Given the description of an element on the screen output the (x, y) to click on. 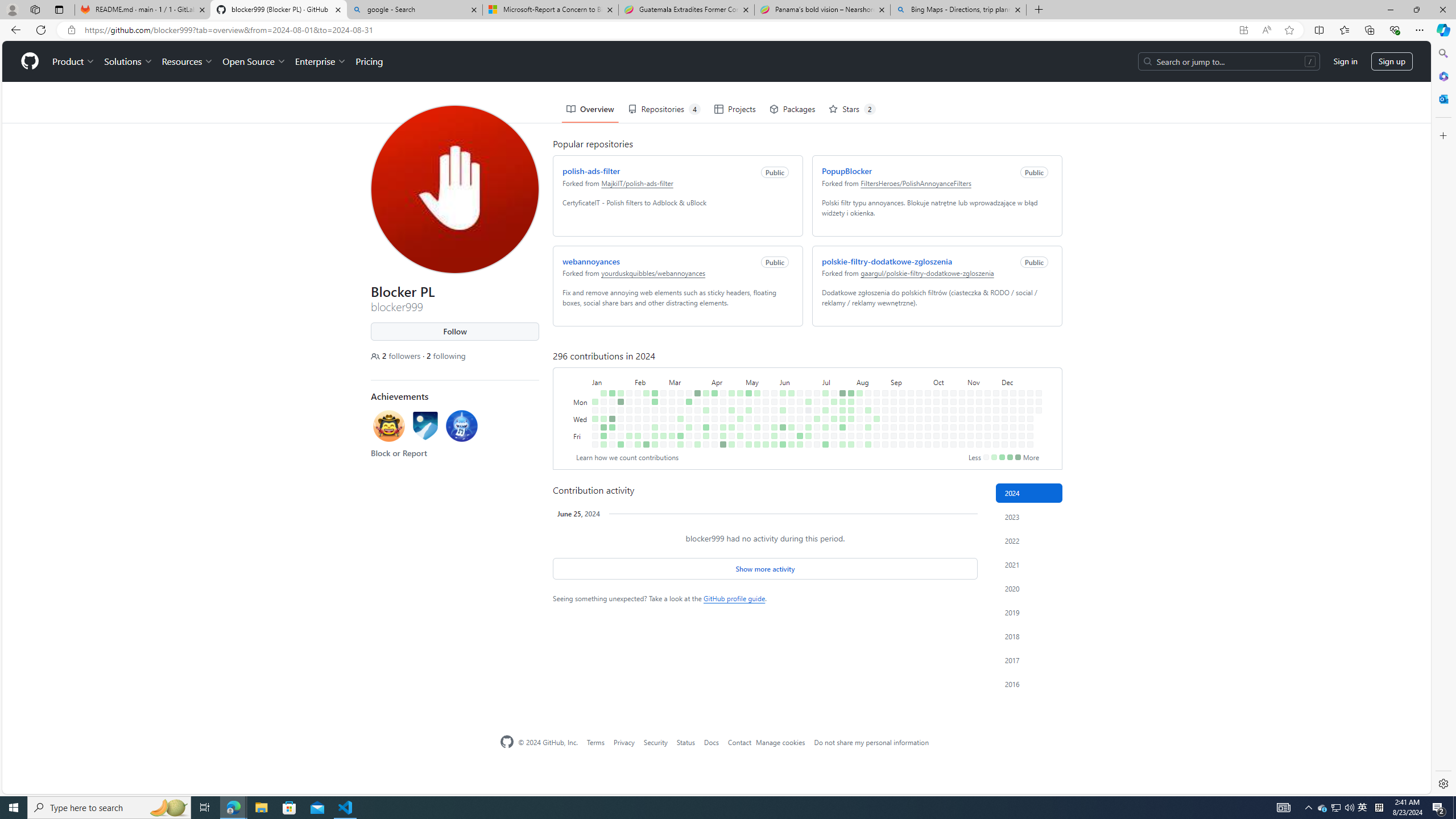
No contributions on February 20th. (652, 369)
Open Source (251, 20)
No contributions on March 23rd. (688, 444)
No contributions on August 26th. (882, 360)
No contributions on January 20th. (611, 444)
No contributions on September 30th. (925, 360)
Manage cookies (780, 741)
No contributions on June 30th. (814, 351)
No contributions on July 1st. (814, 360)
1 contribution on April 2nd. (703, 369)
No contributions on June 14th. (789, 394)
No contributions on December 15th. (1019, 351)
Show more activity (764, 568)
No contributions on November 18th. (985, 360)
